Given the description of an element on the screen output the (x, y) to click on. 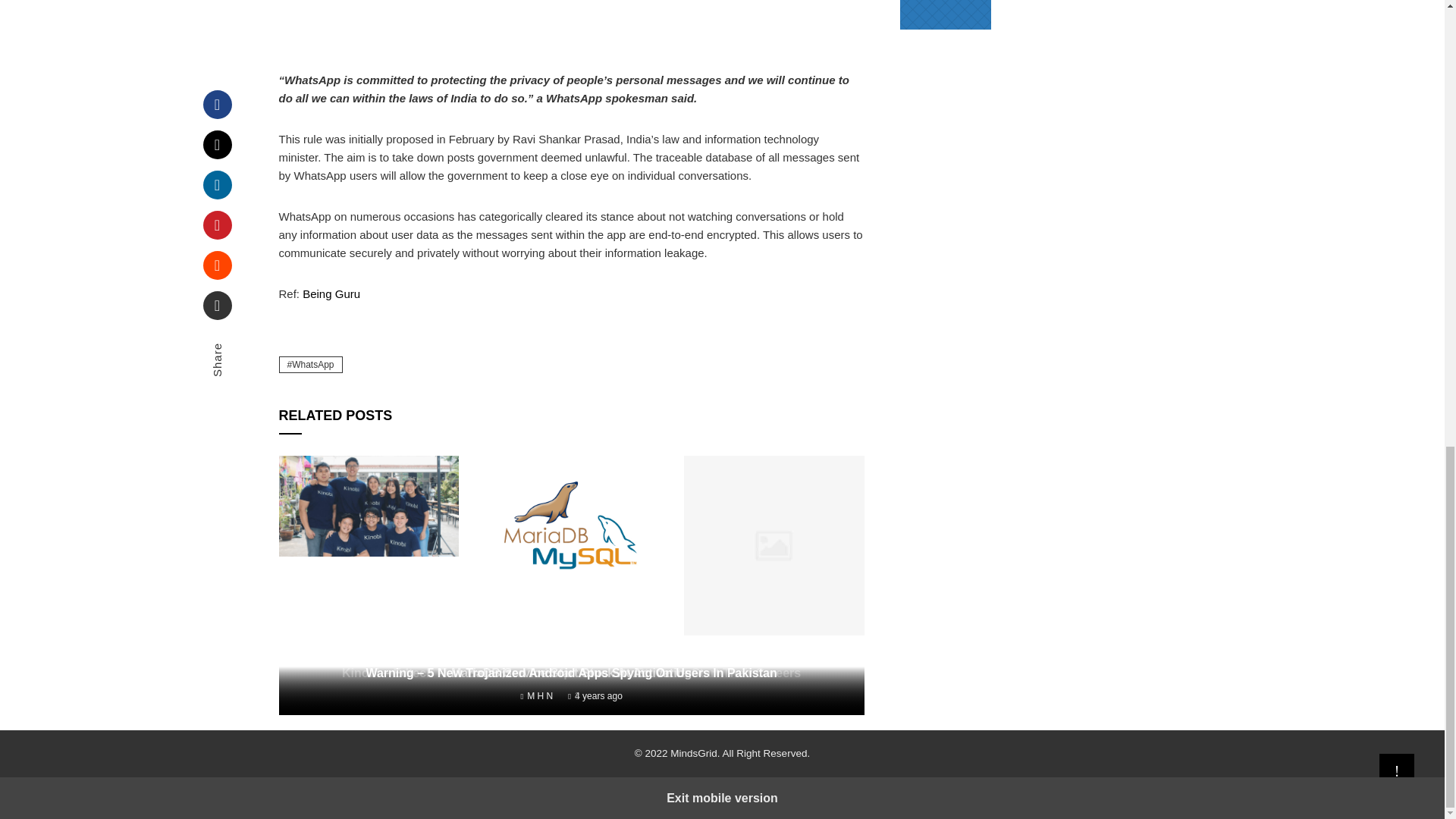
MariaDB Service Start Stuck At Activating (571, 672)
3rd party ad content (571, 29)
WhatsApp (310, 364)
Being Guru (330, 293)
MariaDB Service Start Stuck at Activating (571, 672)
